Given the description of an element on the screen output the (x, y) to click on. 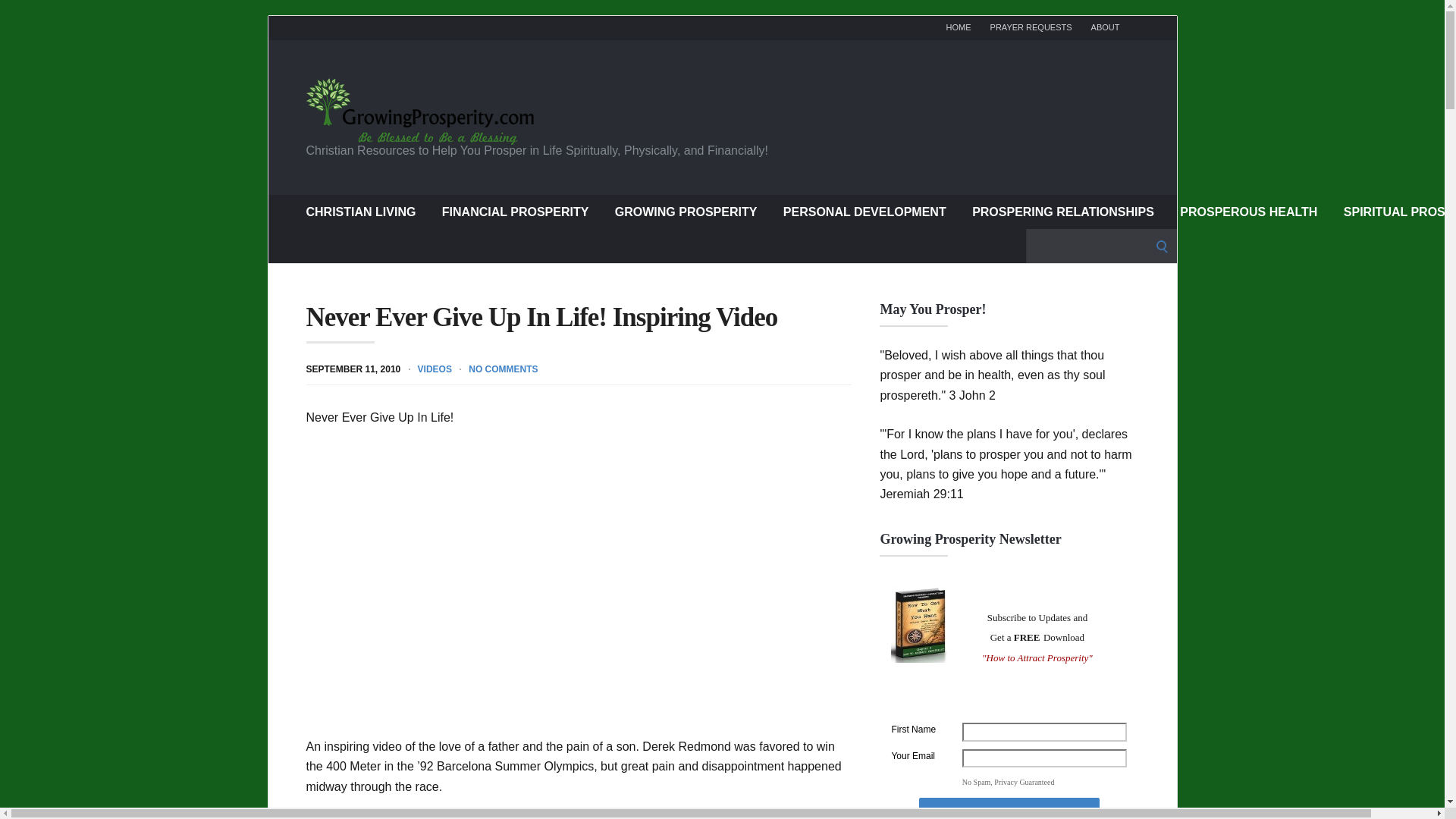
GROWING PROSPERITY (685, 211)
Send Me Prosperity Resources (1009, 808)
PERSONAL DEVELOPMENT (864, 211)
FINANCIAL PROSPERITY (515, 211)
PRAYER REQUESTS (1030, 27)
HOME (958, 27)
PROSPEROUS HEALTH (1248, 211)
PROSPERING RELATIONSHIPS (1063, 211)
ABOUT (1104, 27)
CHRISTIAN LIVING (360, 211)
